Given the description of an element on the screen output the (x, y) to click on. 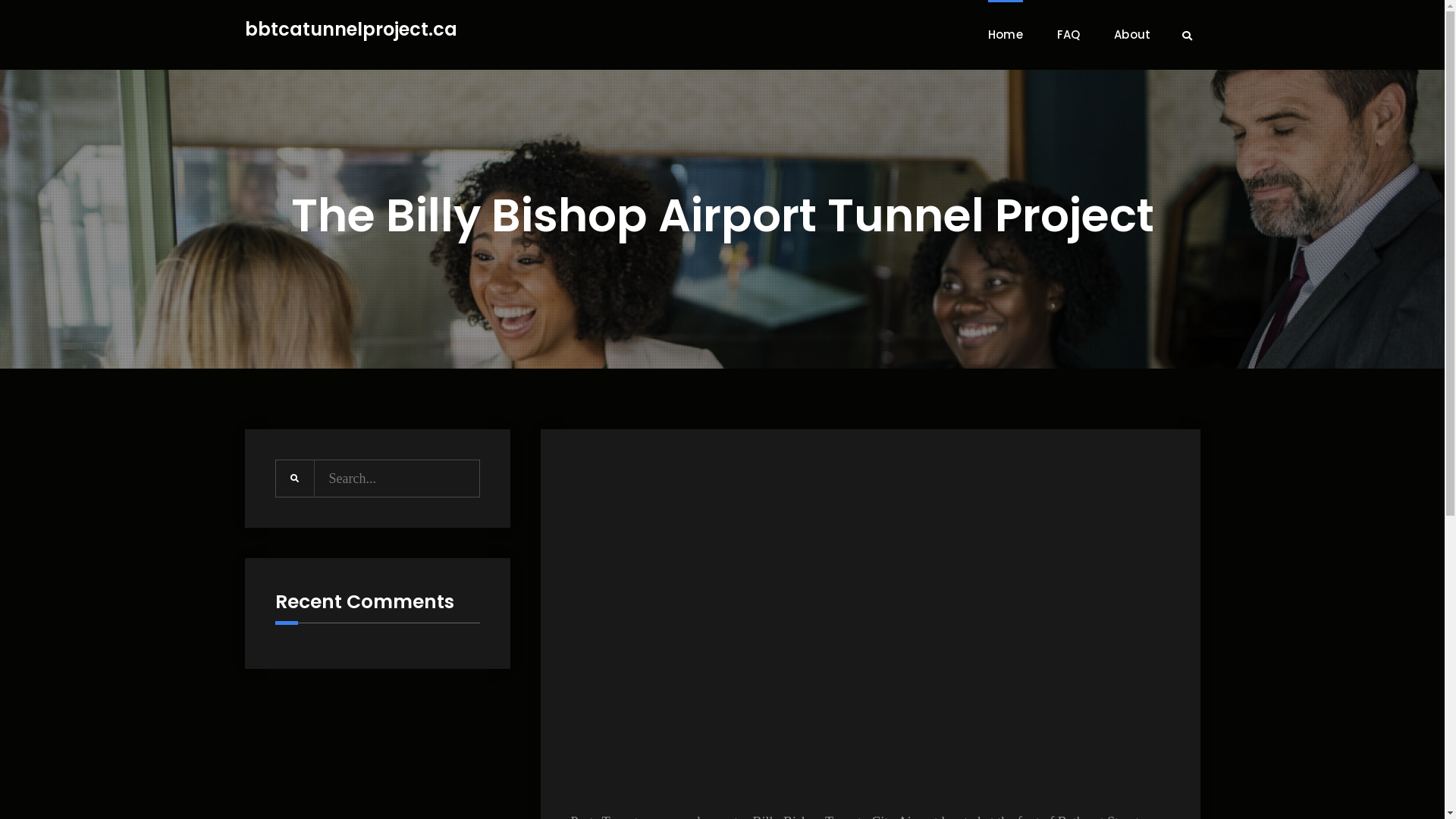
About Element type: text (1132, 34)
FAQ Element type: text (1068, 34)
bbtcatunnelproject.ca Element type: text (350, 29)
Search Element type: text (1186, 35)
Home Element type: text (1005, 34)
